Given the description of an element on the screen output the (x, y) to click on. 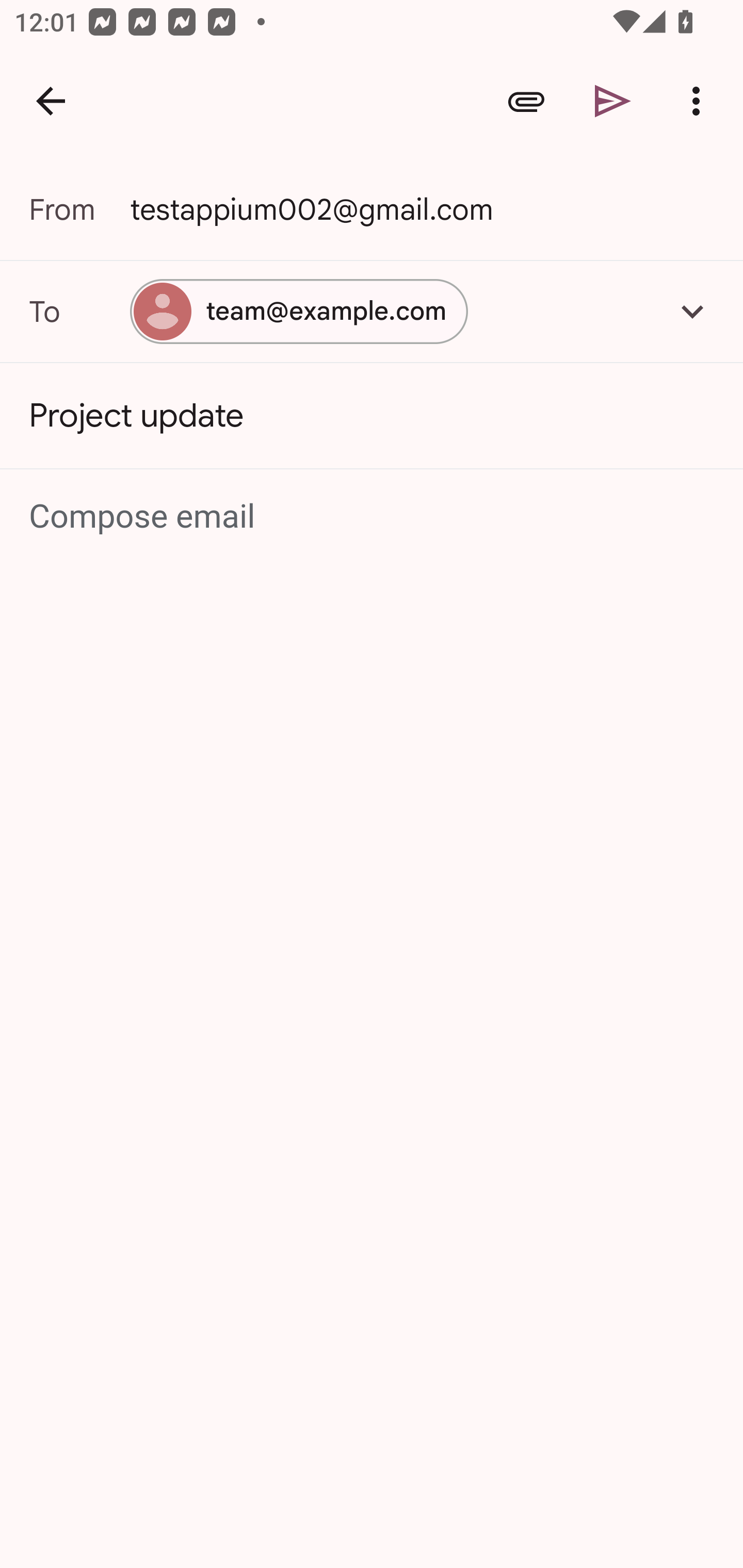
Navigate up (50, 101)
Attach file (525, 101)
Send (612, 101)
More options (699, 101)
From (79, 209)
Add Cc/Bcc (692, 311)
Project update (371, 415)
Compose email (372, 517)
